Given the description of an element on the screen output the (x, y) to click on. 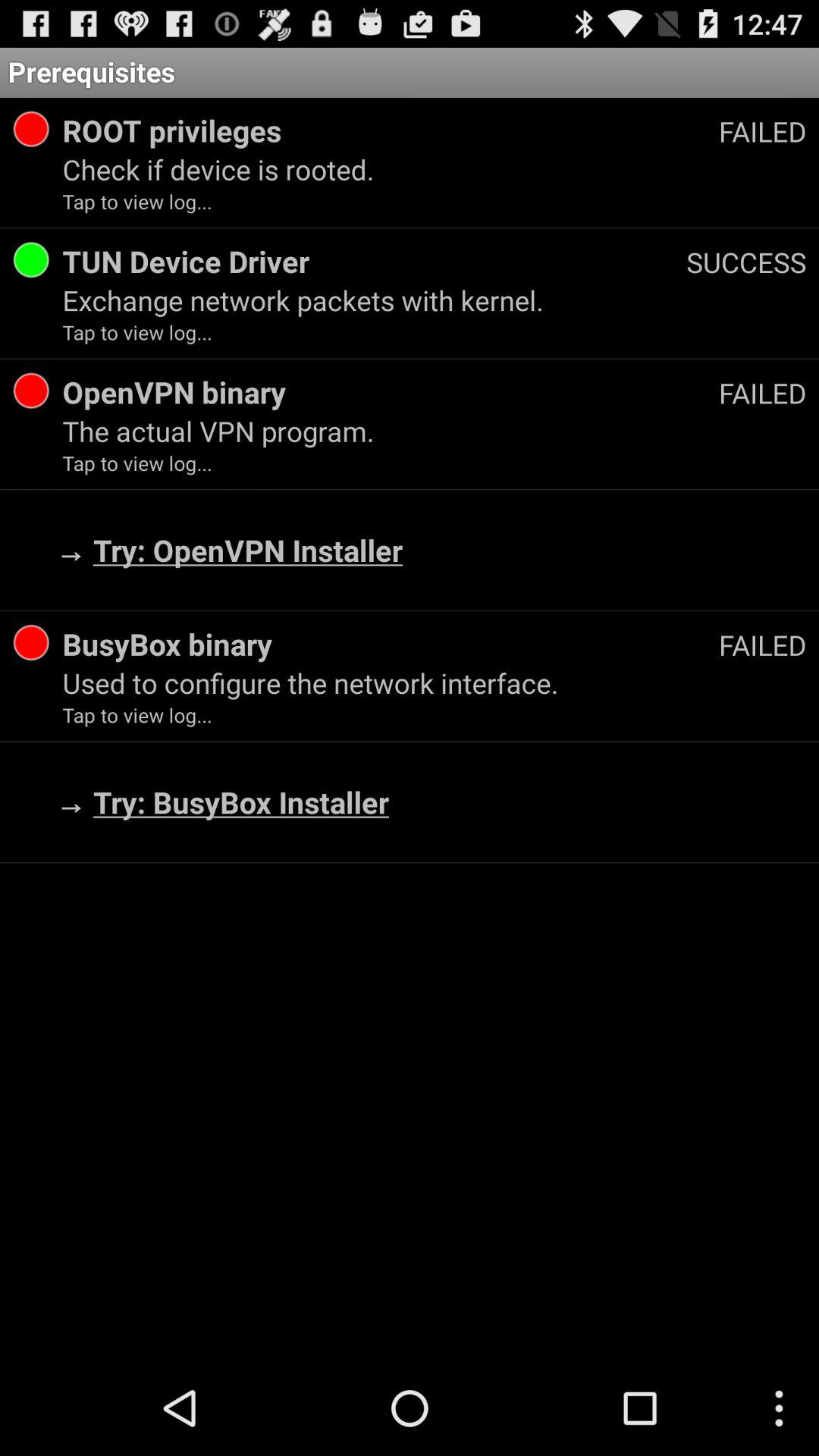
tap the icon above the tap to view (434, 169)
